Given the description of an element on the screen output the (x, y) to click on. 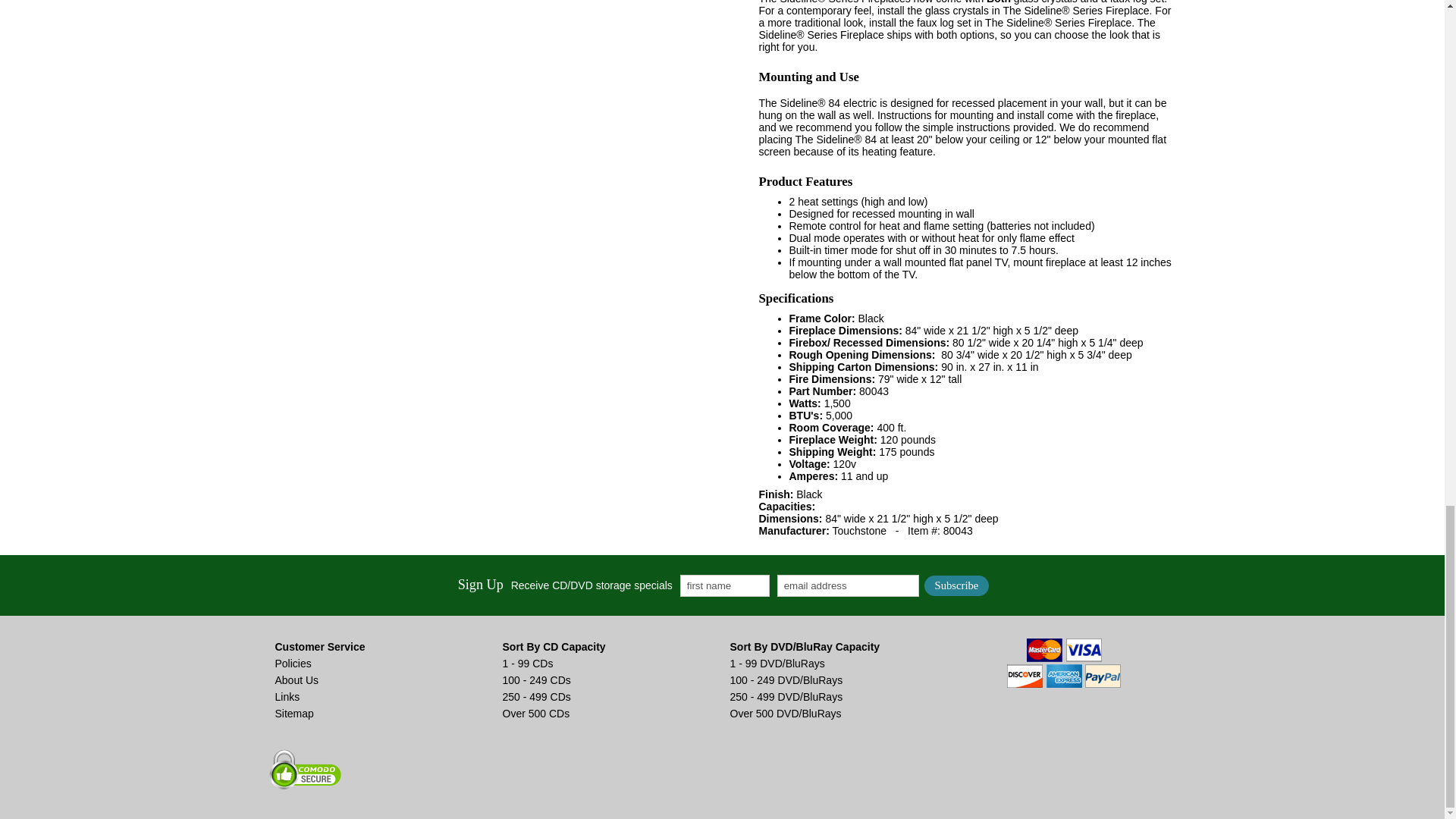
email address (847, 585)
Subscribe (957, 585)
first name (724, 585)
